Given the description of an element on the screen output the (x, y) to click on. 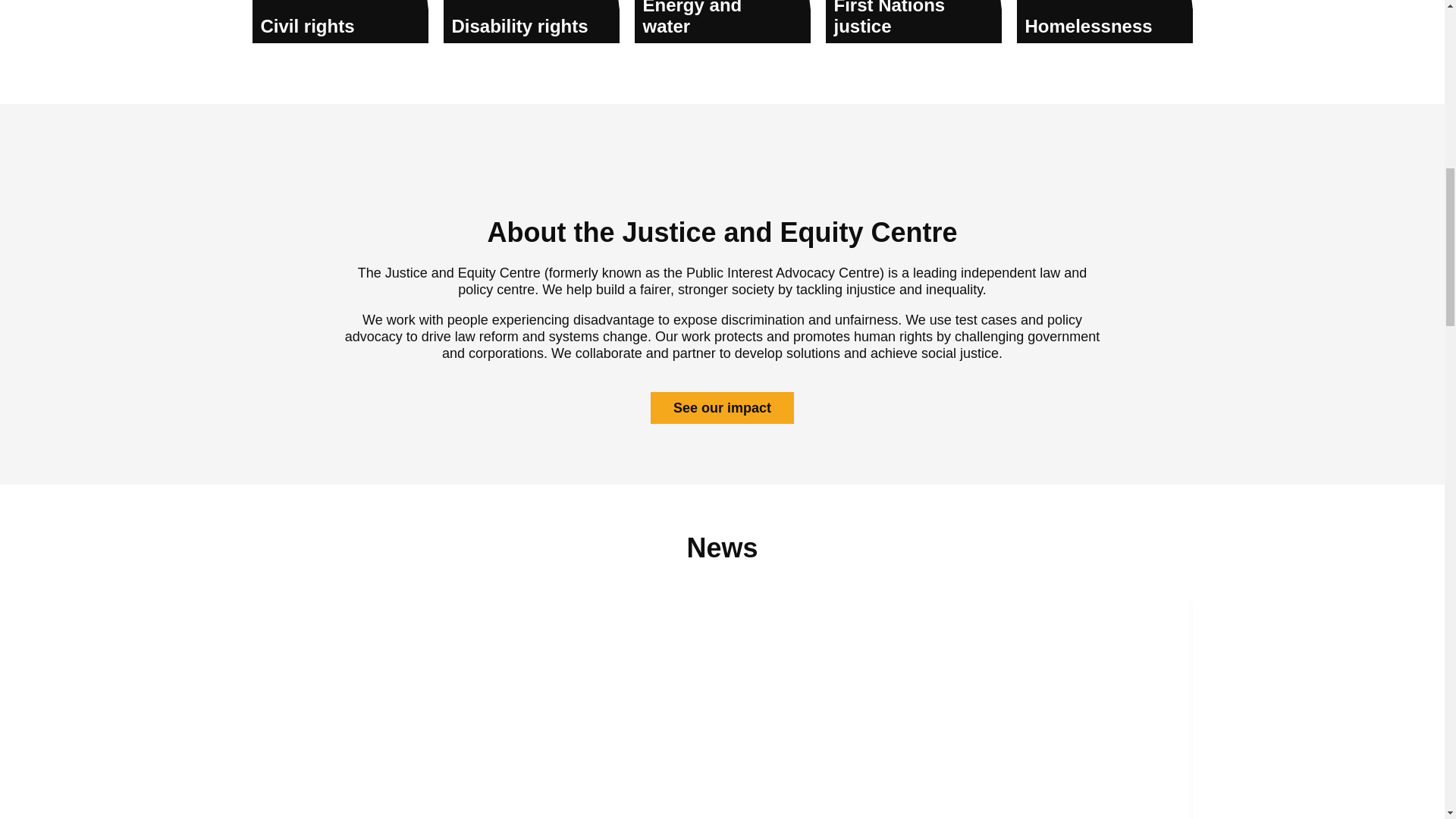
Home 9 (722, 719)
Home 8 (721, 166)
Home 7 (1104, 19)
Home 3 (339, 19)
Home 6 (913, 19)
Home 4 (530, 19)
Home 5 (721, 19)
